Given the description of an element on the screen output the (x, y) to click on. 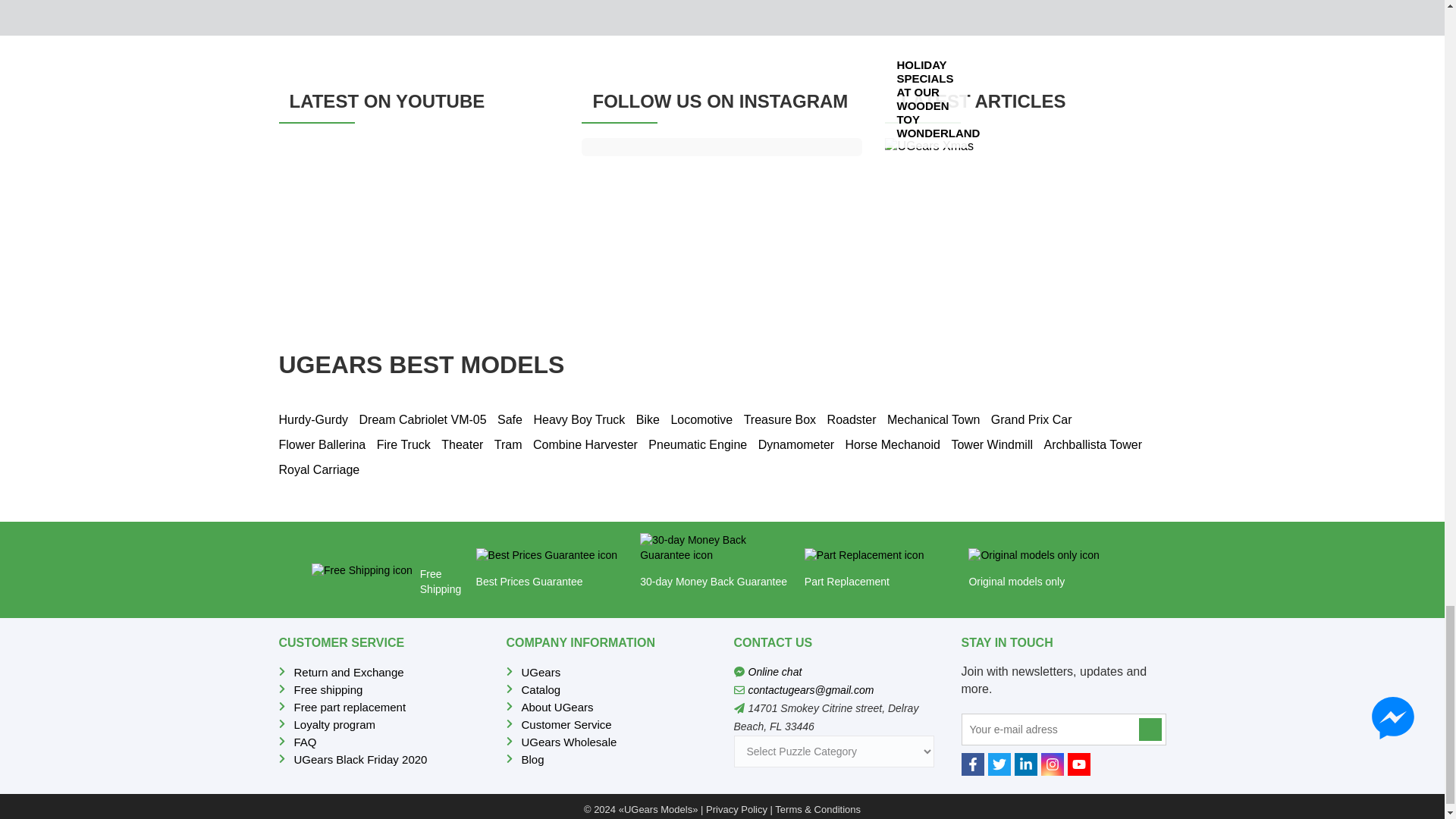
Send (1149, 729)
Assembling UGears Amber Box (419, 216)
